Given the description of an element on the screen output the (x, y) to click on. 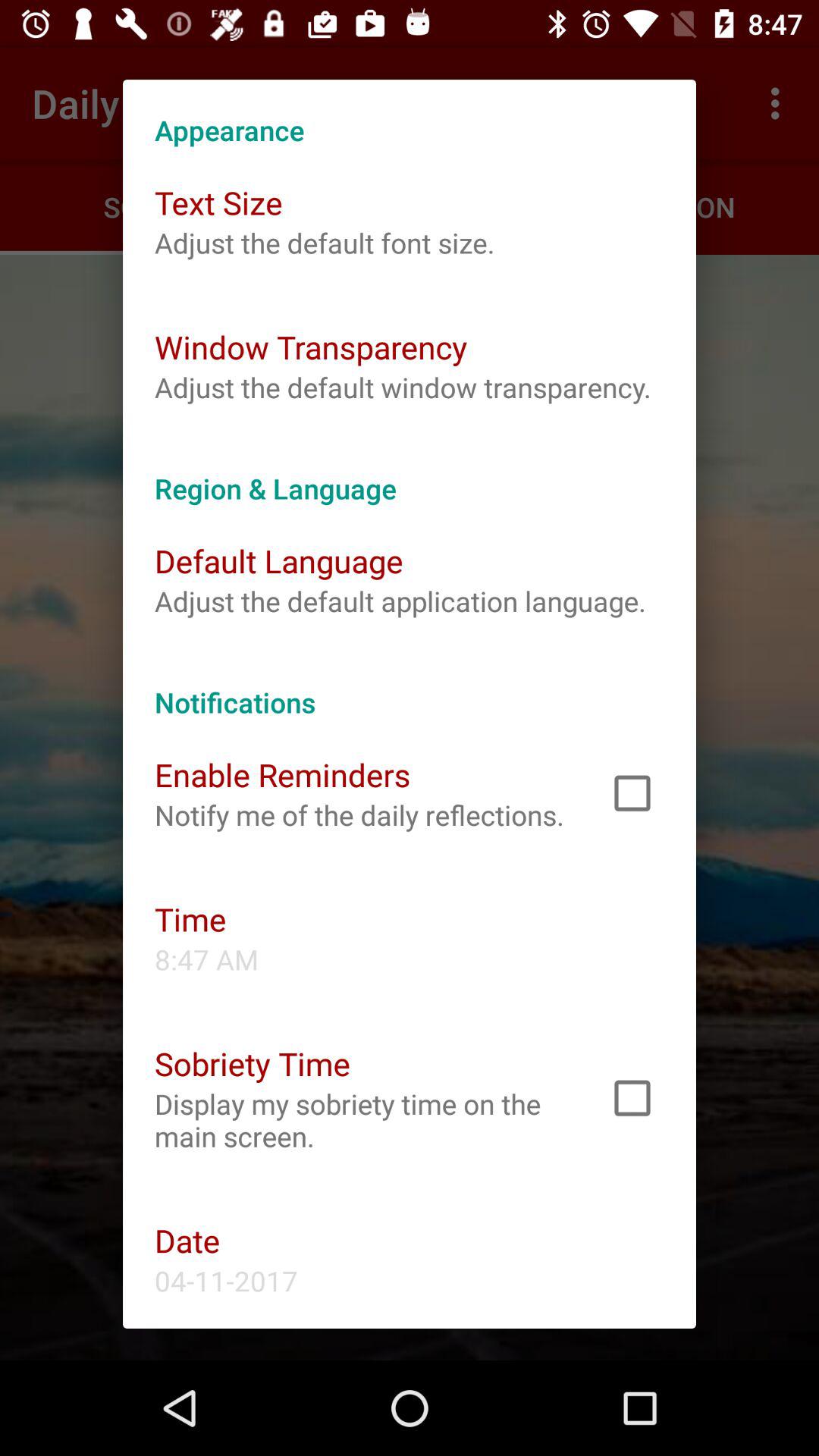
select the region & language app (409, 472)
